Given the description of an element on the screen output the (x, y) to click on. 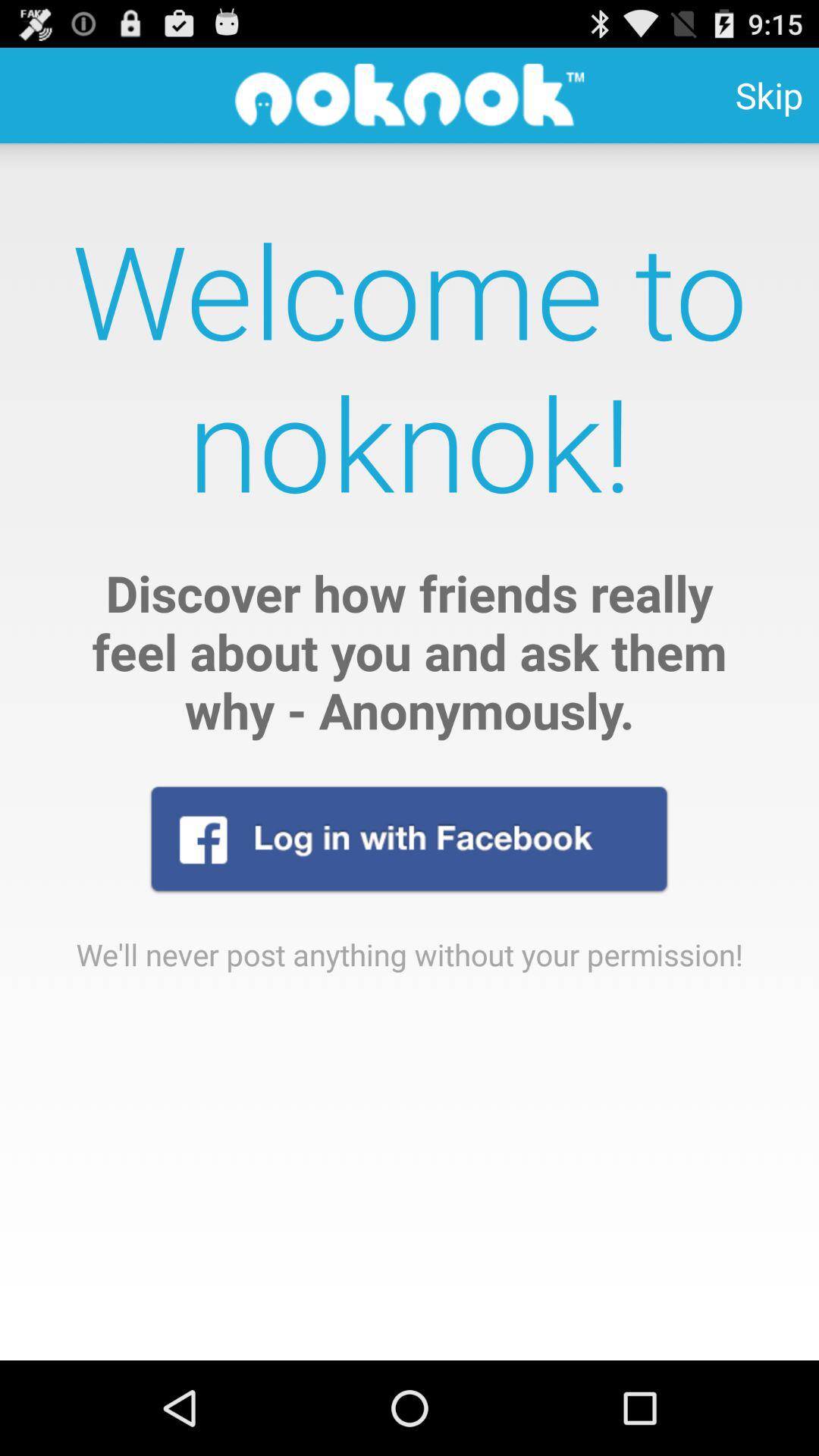
swipe until the skip icon (769, 95)
